Given the description of an element on the screen output the (x, y) to click on. 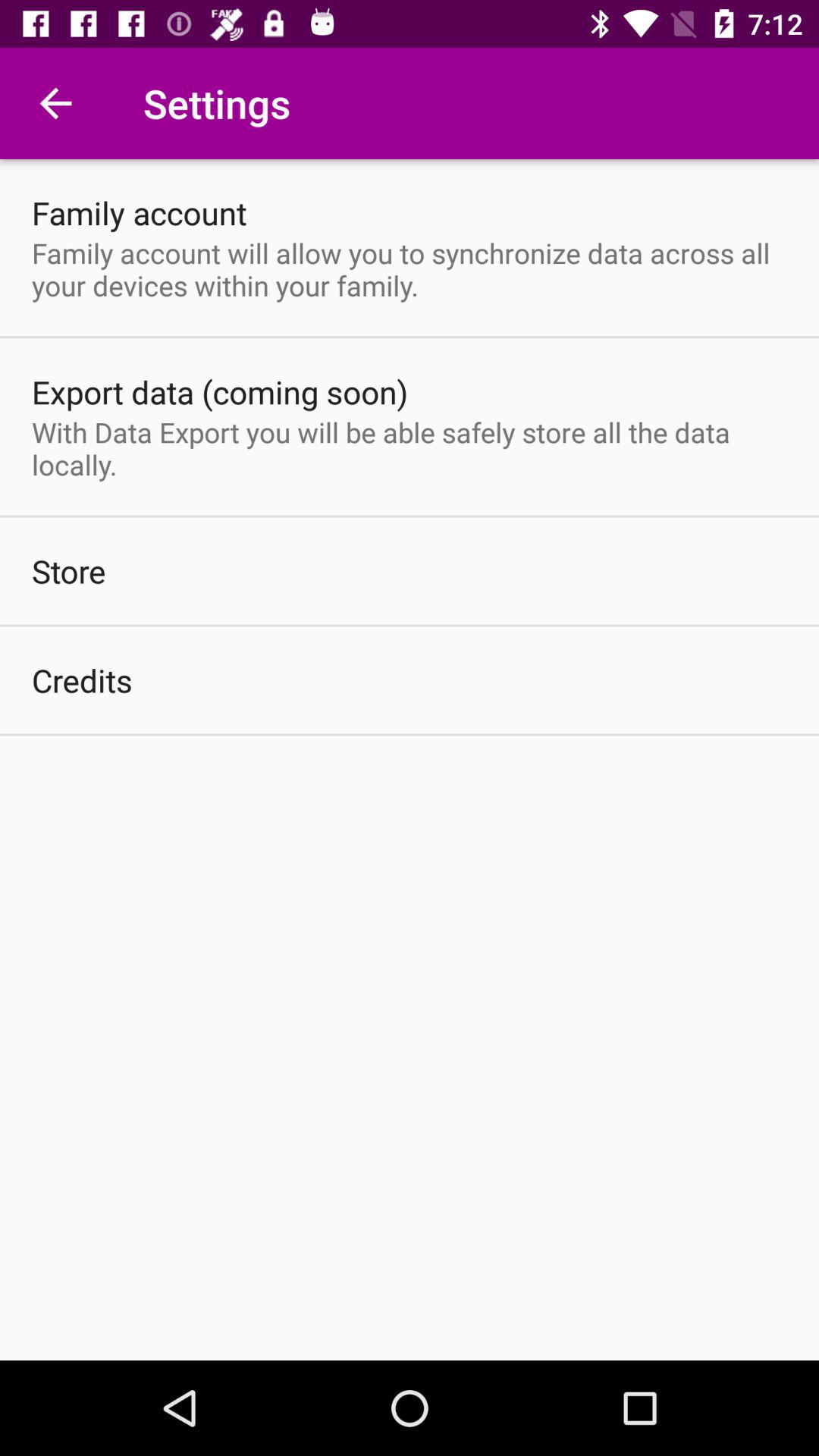
choose app next to settings item (55, 103)
